Given the description of an element on the screen output the (x, y) to click on. 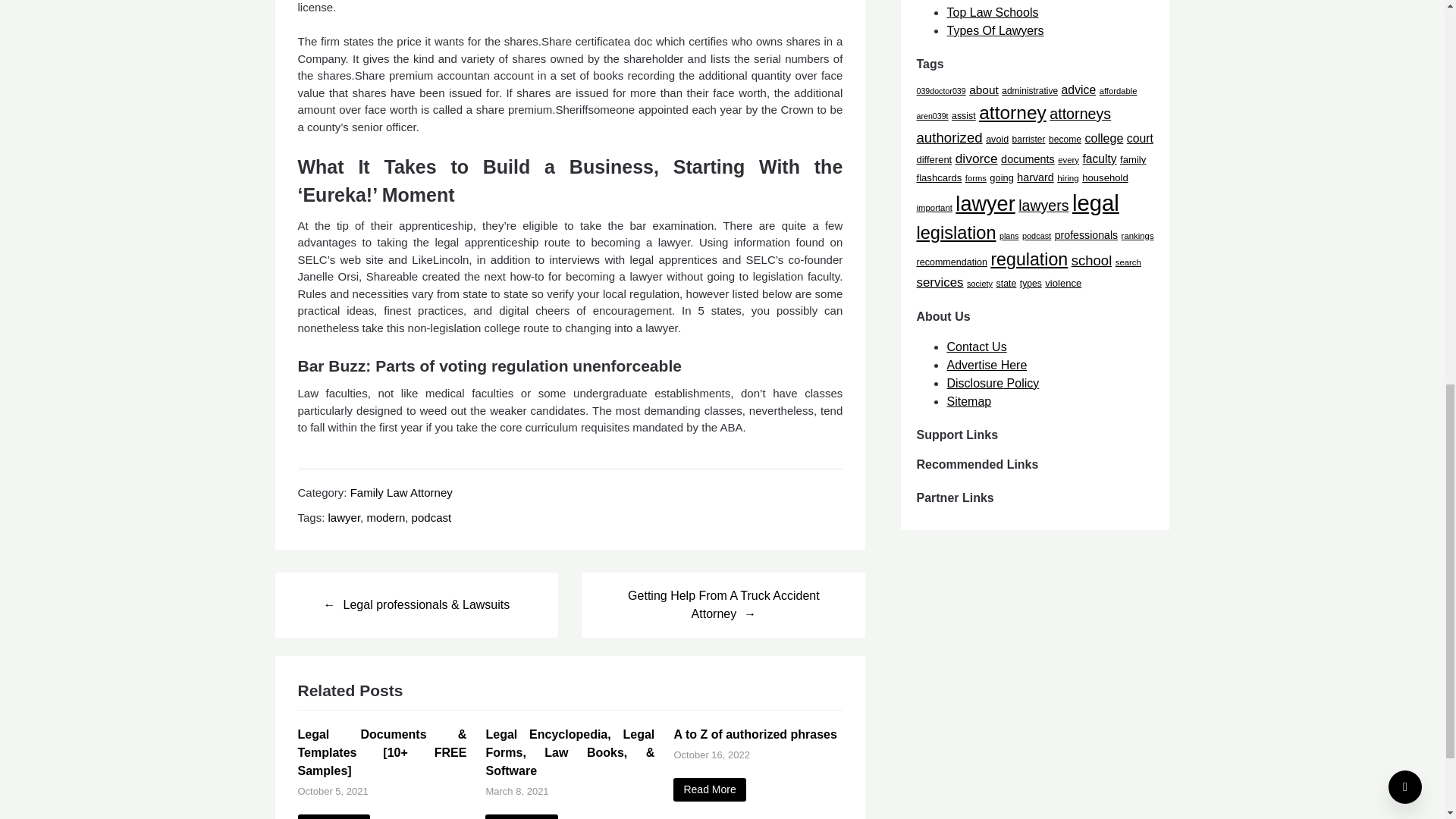
lawyer (345, 517)
Family Law Attorney (401, 492)
Getting Help From A Truck Accident Attorney (722, 604)
podcast (431, 517)
modern (385, 517)
A to Z of authorized phrases (708, 789)
